Given the description of an element on the screen output the (x, y) to click on. 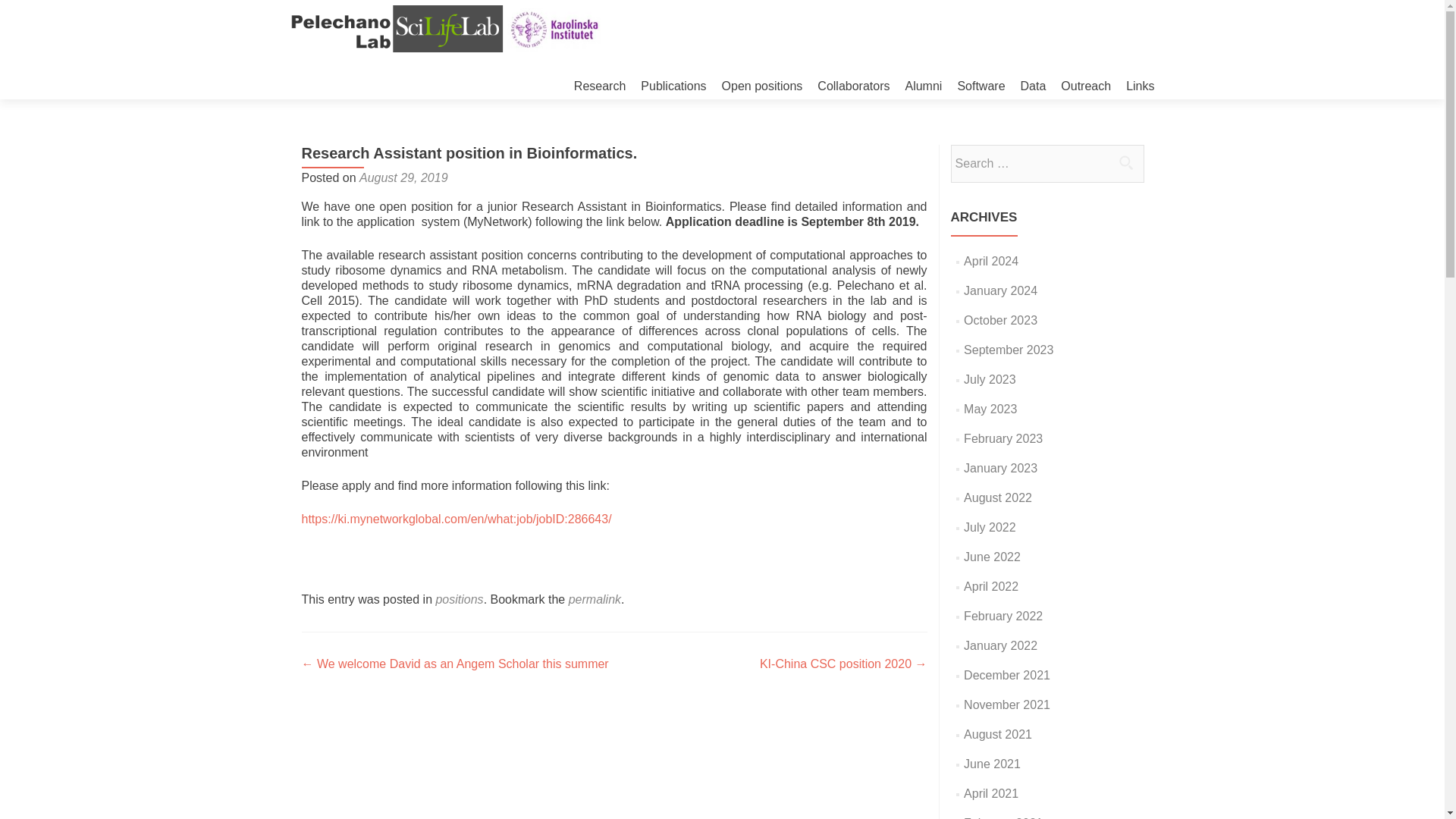
Outreach (1085, 85)
June 2022 (991, 556)
positions (459, 599)
May 2023 (989, 408)
Research (599, 85)
Search (1125, 161)
Search (1125, 161)
October 2023 (999, 319)
December 2021 (1006, 675)
Search (1125, 161)
